Given the description of an element on the screen output the (x, y) to click on. 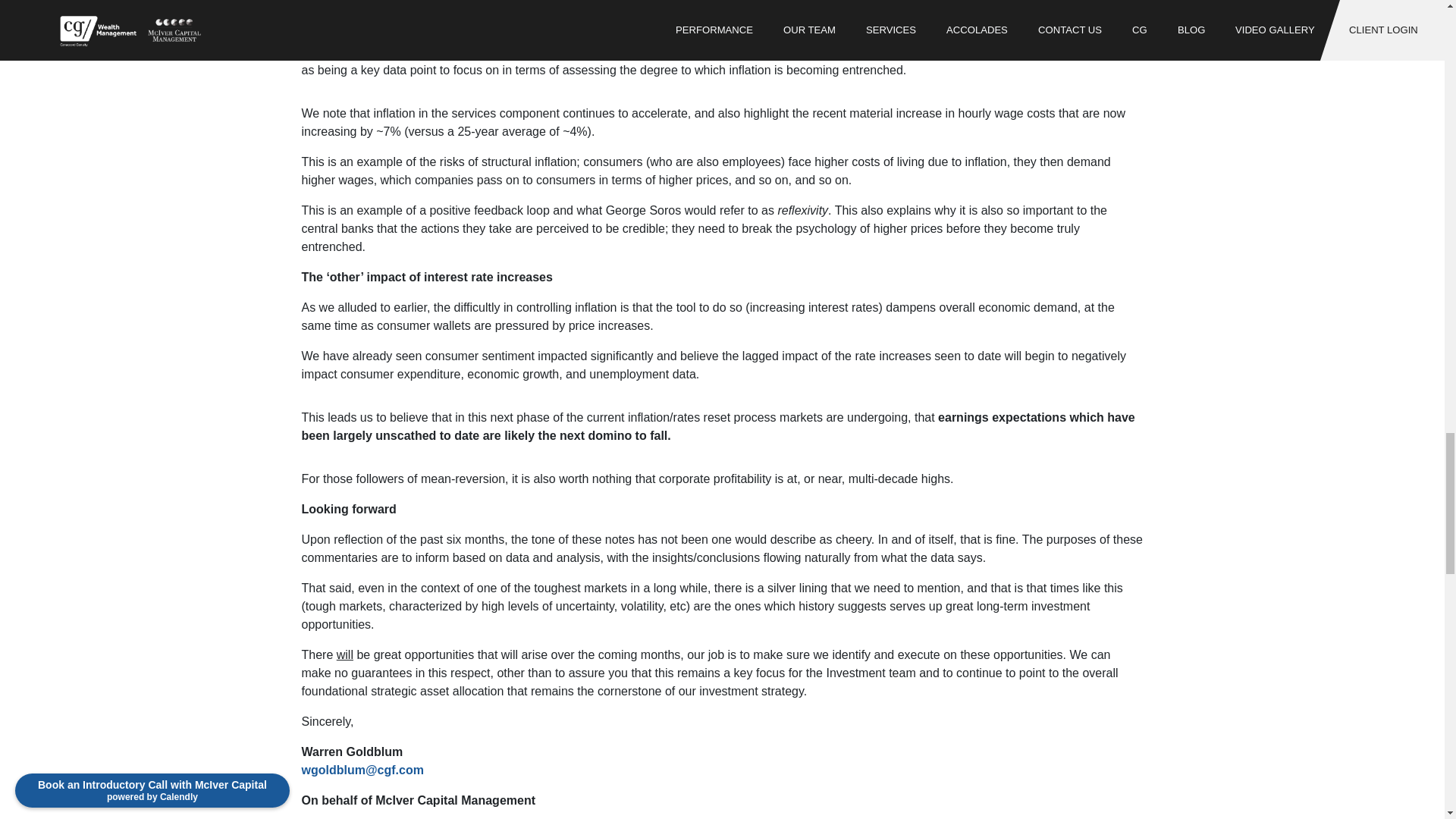
Market Forces 006 (777, 51)
Market Forces 006  (777, 51)
Market Forces 001 (639, 51)
Market Forces 001 (639, 51)
